Given the description of an element on the screen output the (x, y) to click on. 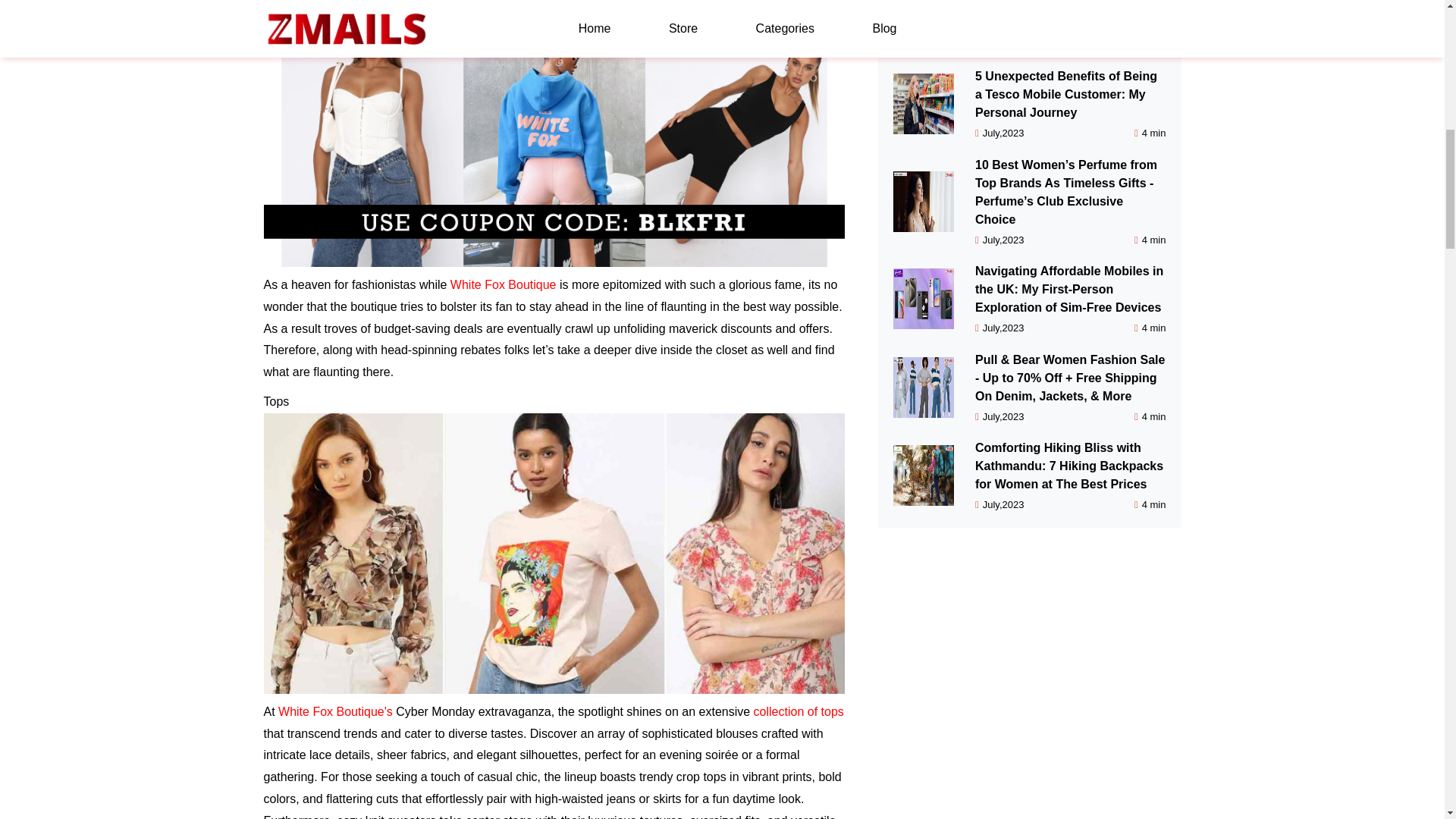
White Fox Boutique's (335, 711)
White Fox Boutique (502, 284)
collection of tops (799, 711)
